Given the description of an element on the screen output the (x, y) to click on. 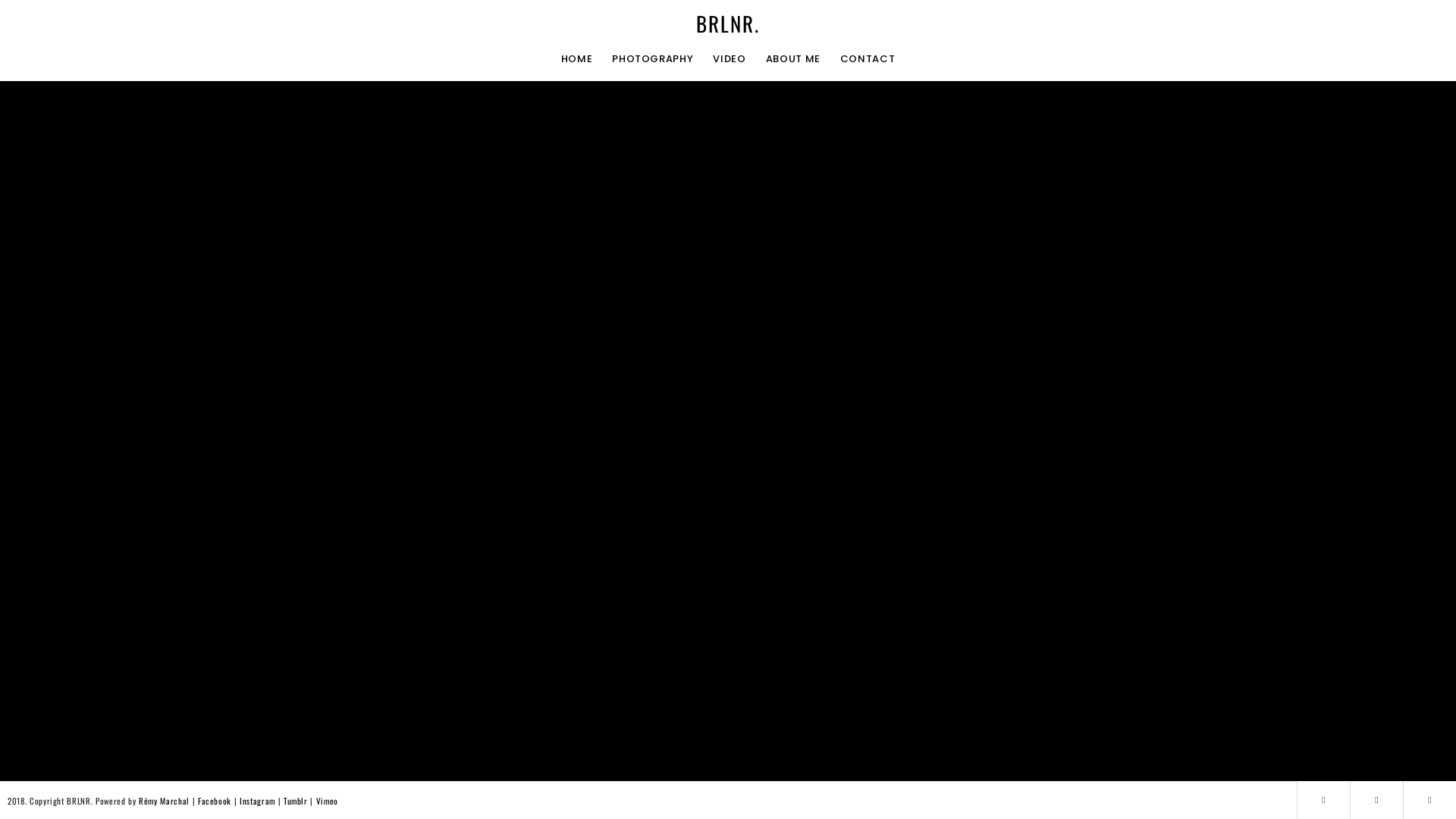
PHOTOGRAPHY Element type: text (652, 59)
Vimeo Element type: text (327, 800)
CONTACT Element type: text (867, 59)
Instagram Element type: text (258, 800)
Tumblr Element type: text (296, 800)
HOME Element type: text (577, 59)
ABOUT ME Element type: text (792, 59)
VIDEO Element type: text (728, 59)
BRLNR. Element type: text (727, 23)
Facebook Element type: text (215, 800)
